Given the description of an element on the screen output the (x, y) to click on. 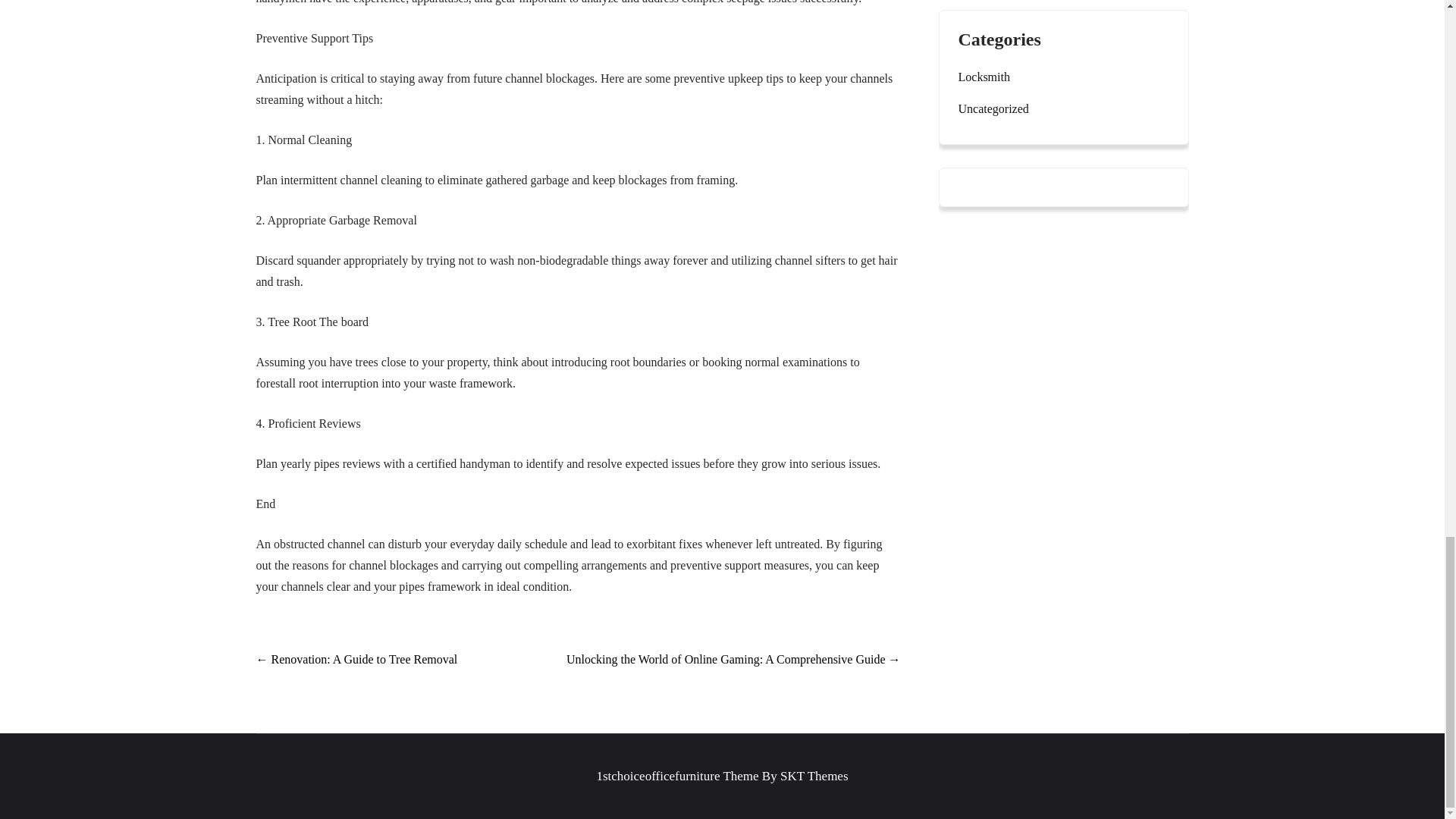
Locksmith (984, 76)
Uncategorized (993, 108)
